Given the description of an element on the screen output the (x, y) to click on. 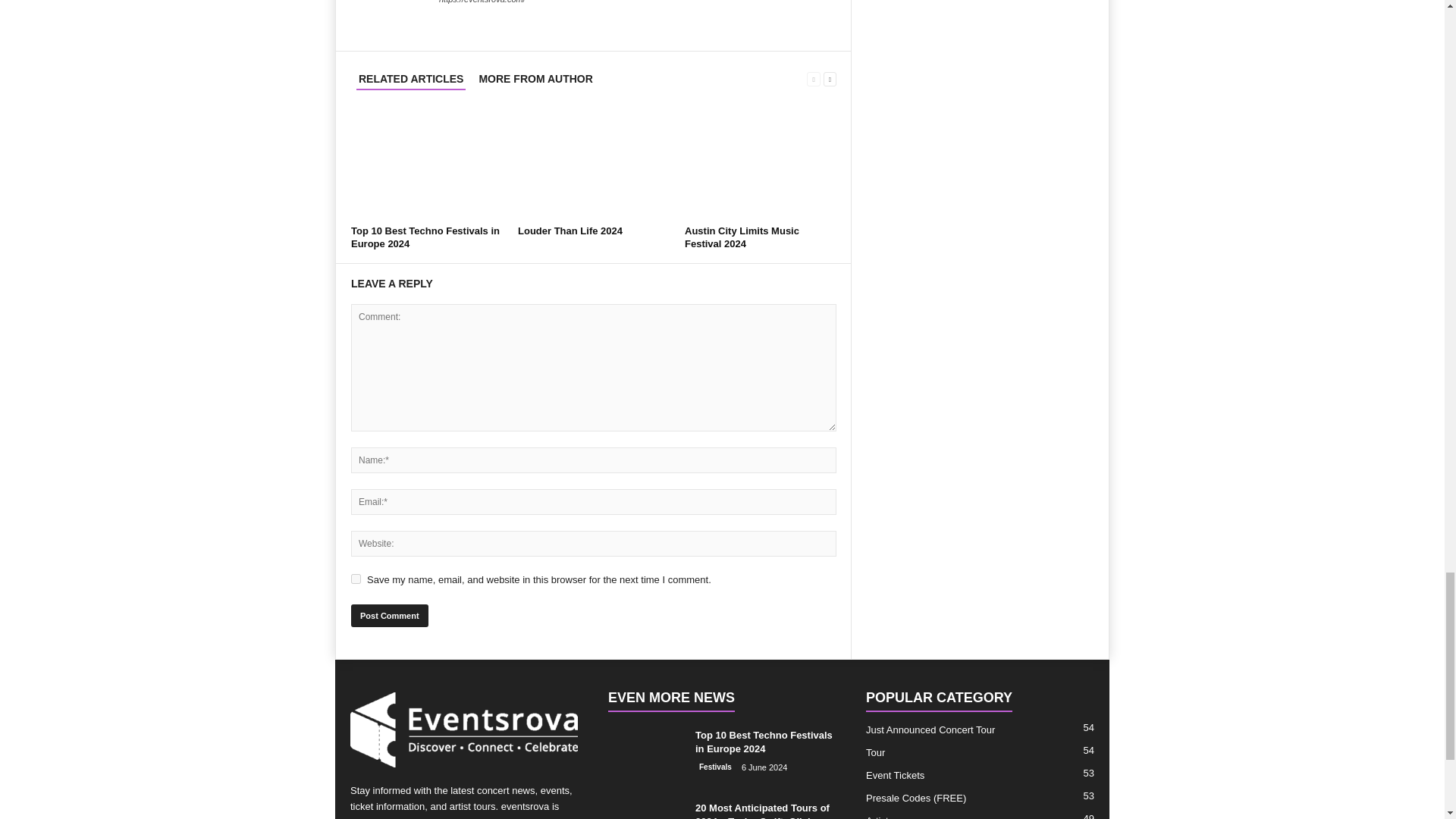
Post Comment (389, 615)
yes (355, 578)
